Given the description of an element on the screen output the (x, y) to click on. 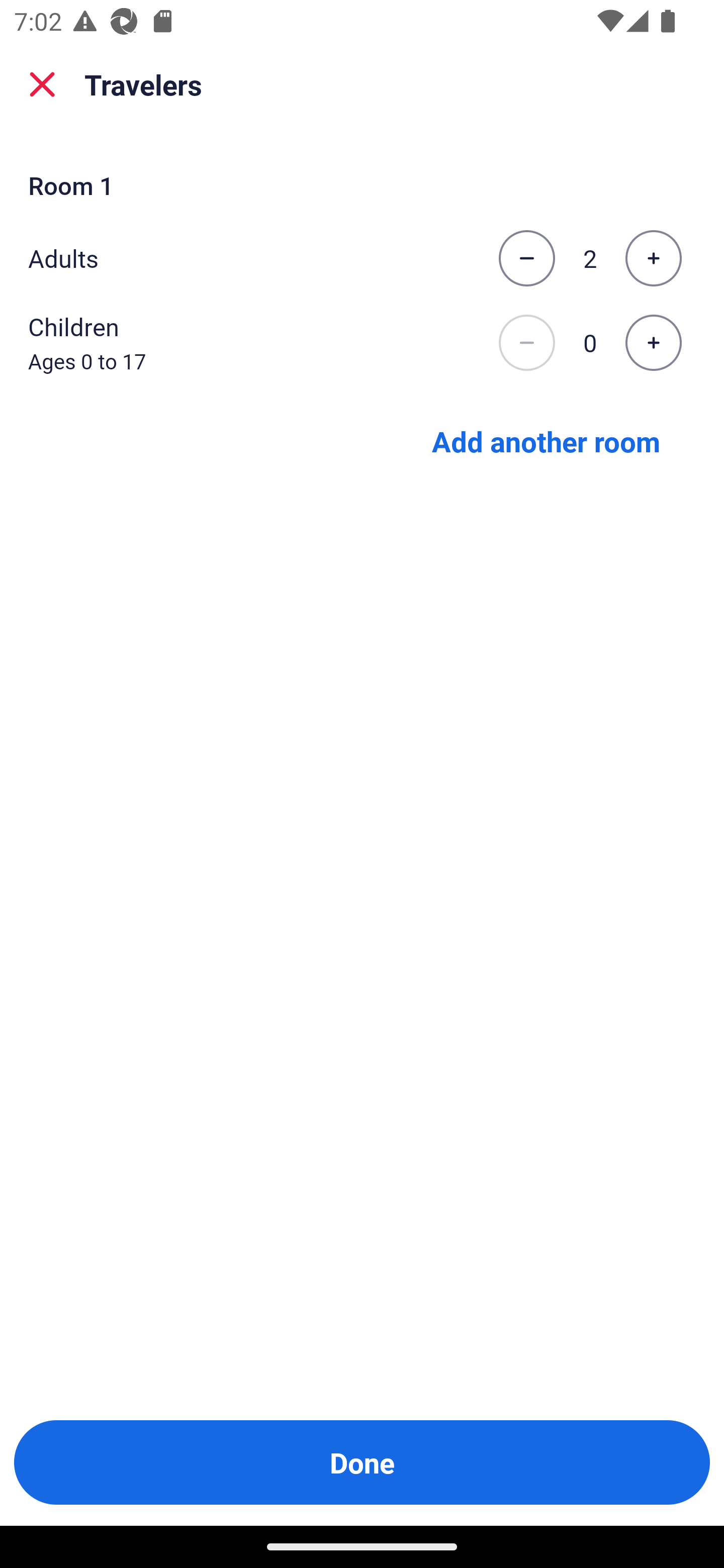
close (42, 84)
Decrease the number of adults (526, 258)
Increase the number of adults (653, 258)
Decrease the number of children (526, 343)
Increase the number of children (653, 343)
Add another room (545, 440)
Done (361, 1462)
